Given the description of an element on the screen output the (x, y) to click on. 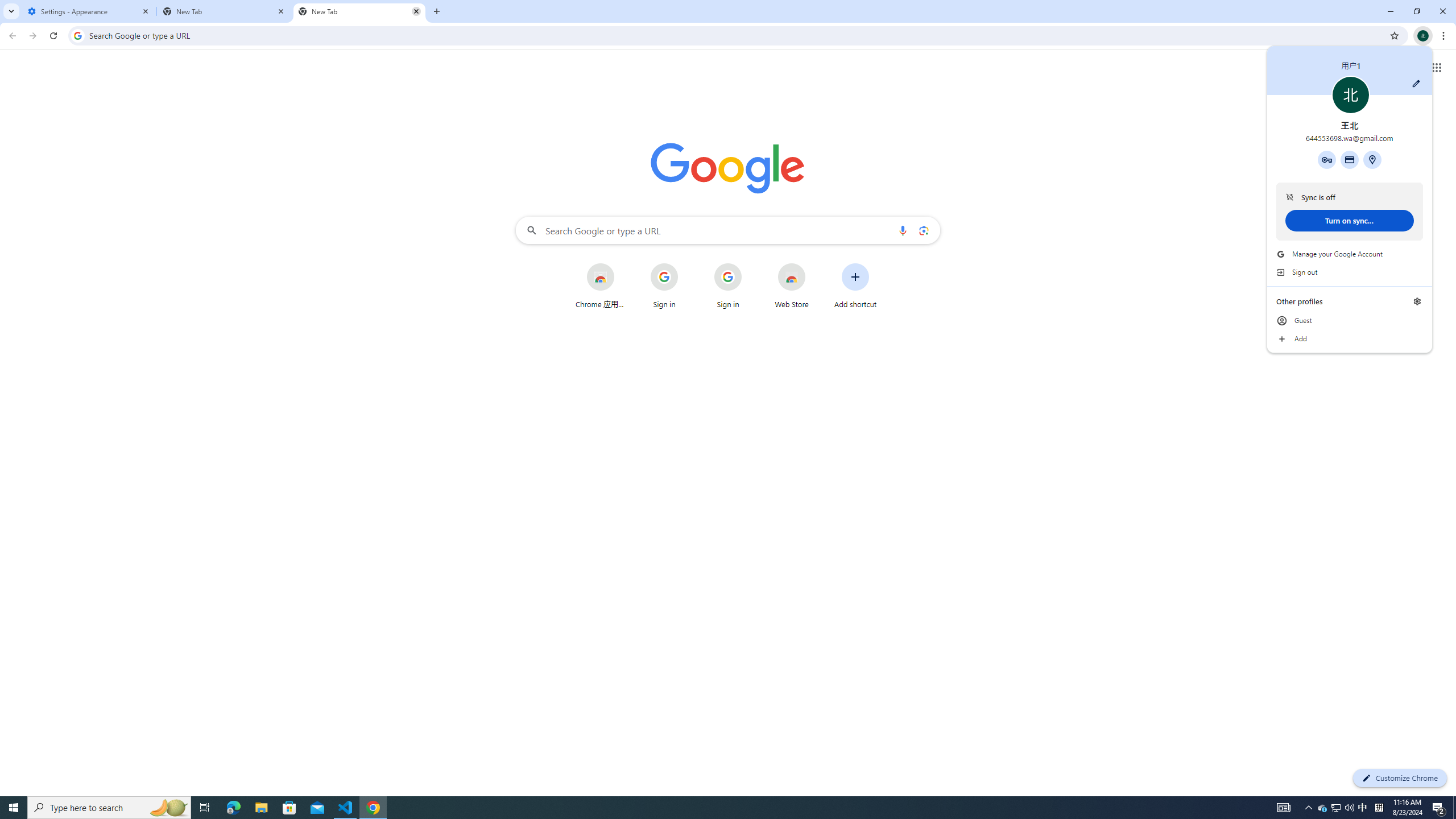
Google Password Manager (1326, 159)
Settings - Appearance (88, 11)
Show desktop (1454, 807)
Search highlights icon opens search home window (167, 807)
More actions for Web Store shortcut (814, 264)
Visual Studio Code - 1 running window (1322, 807)
